Given the description of an element on the screen output the (x, y) to click on. 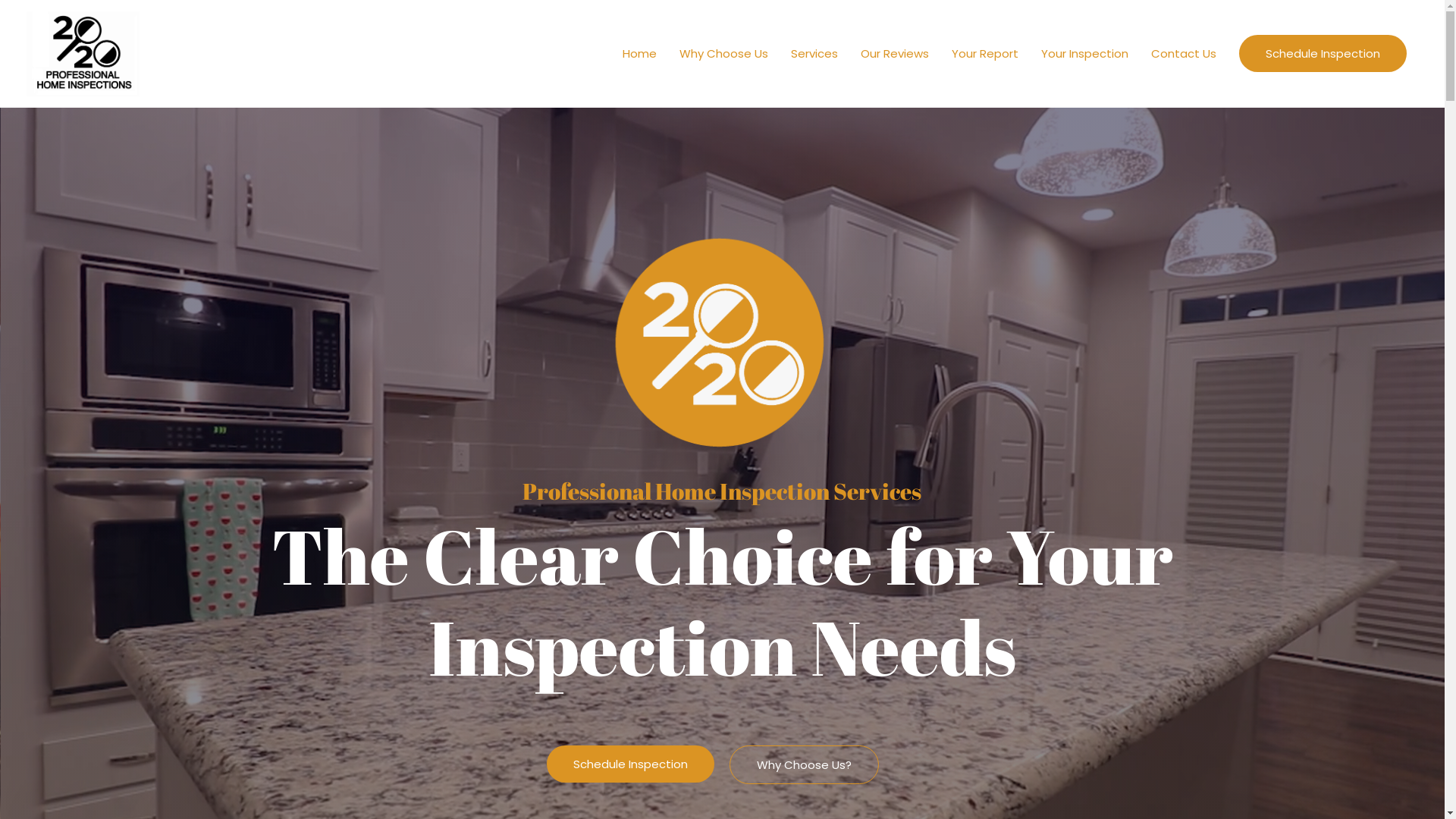
Schedule Inspection Element type: text (630, 763)
Your Report Element type: text (984, 53)
Your Inspection Element type: text (1084, 53)
Why Choose Us? Element type: text (803, 764)
Our Reviews Element type: text (894, 53)
Services Element type: text (814, 53)
Home Element type: text (639, 53)
Why Choose Us Element type: text (723, 53)
Schedule Inspection Element type: text (1322, 53)
Contact Us Element type: text (1183, 53)
